Given the description of an element on the screen output the (x, y) to click on. 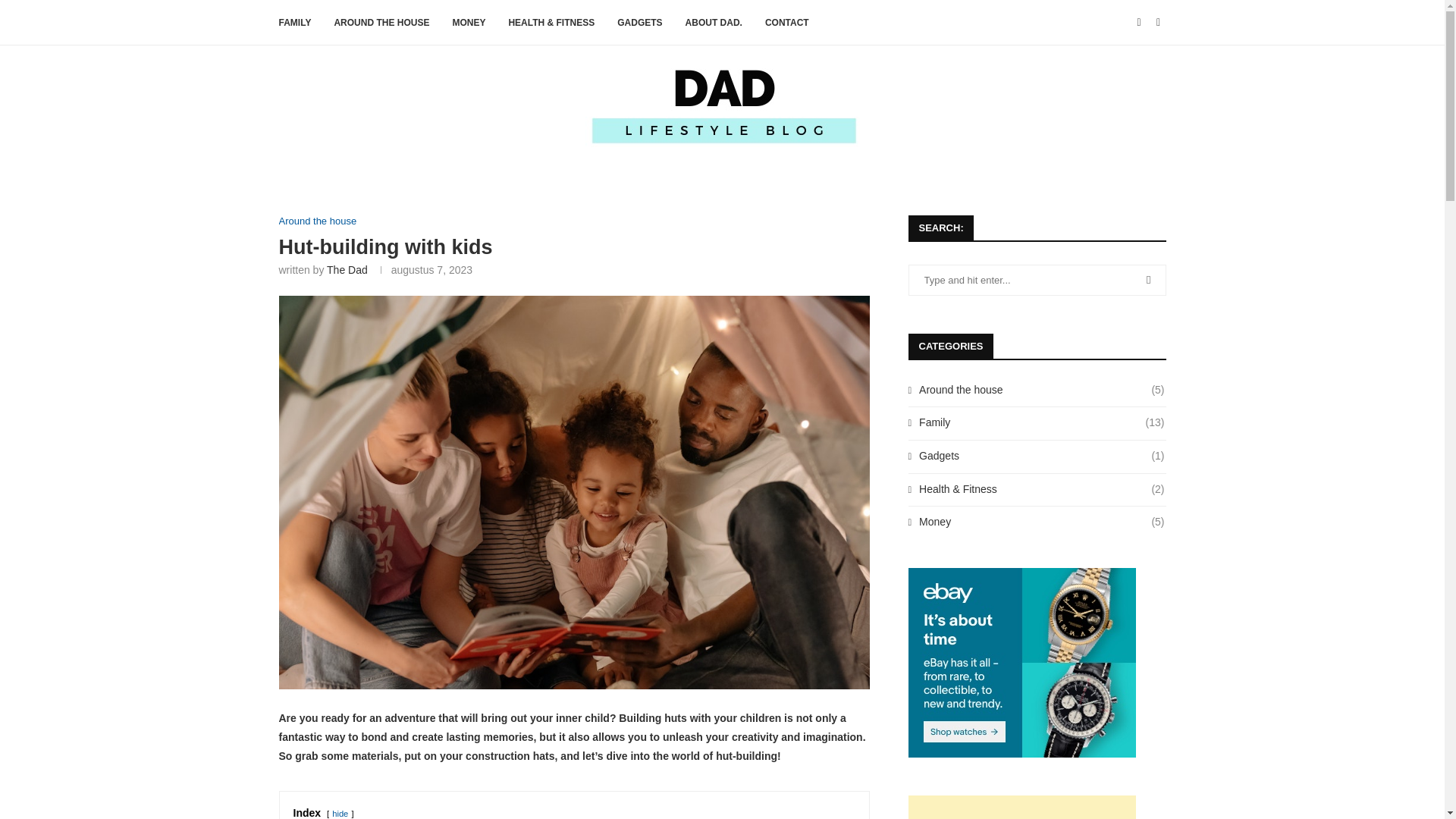
ABOUT DAD. (713, 22)
hide (339, 813)
The Dad (347, 269)
CONTACT (787, 22)
GADGETS (639, 22)
AROUND THE HOUSE (381, 22)
Around the house (317, 221)
